Given the description of an element on the screen output the (x, y) to click on. 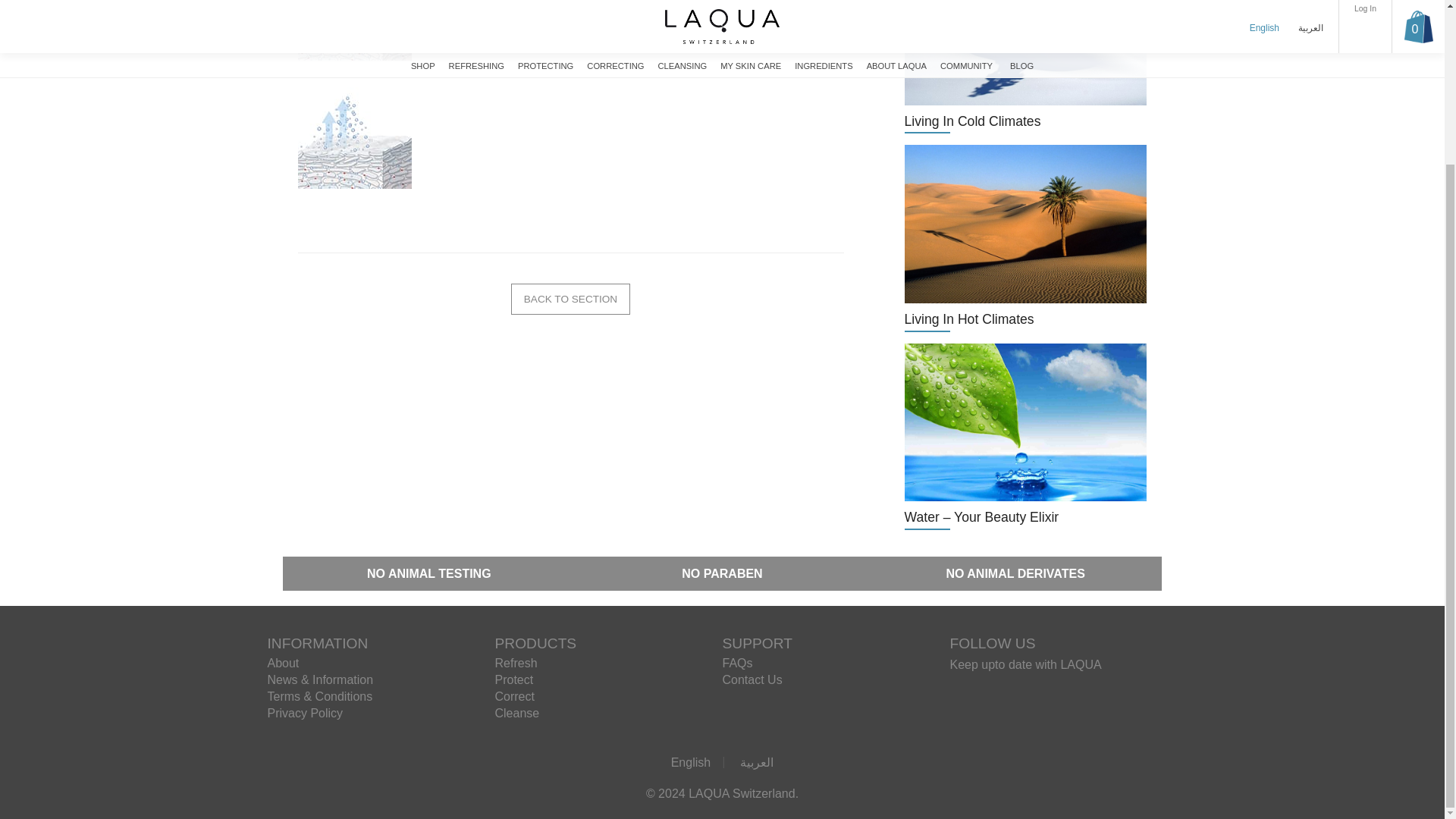
Living In Hot Climates (1025, 237)
Living In Cold Climates (1025, 66)
